Given the description of an element on the screen output the (x, y) to click on. 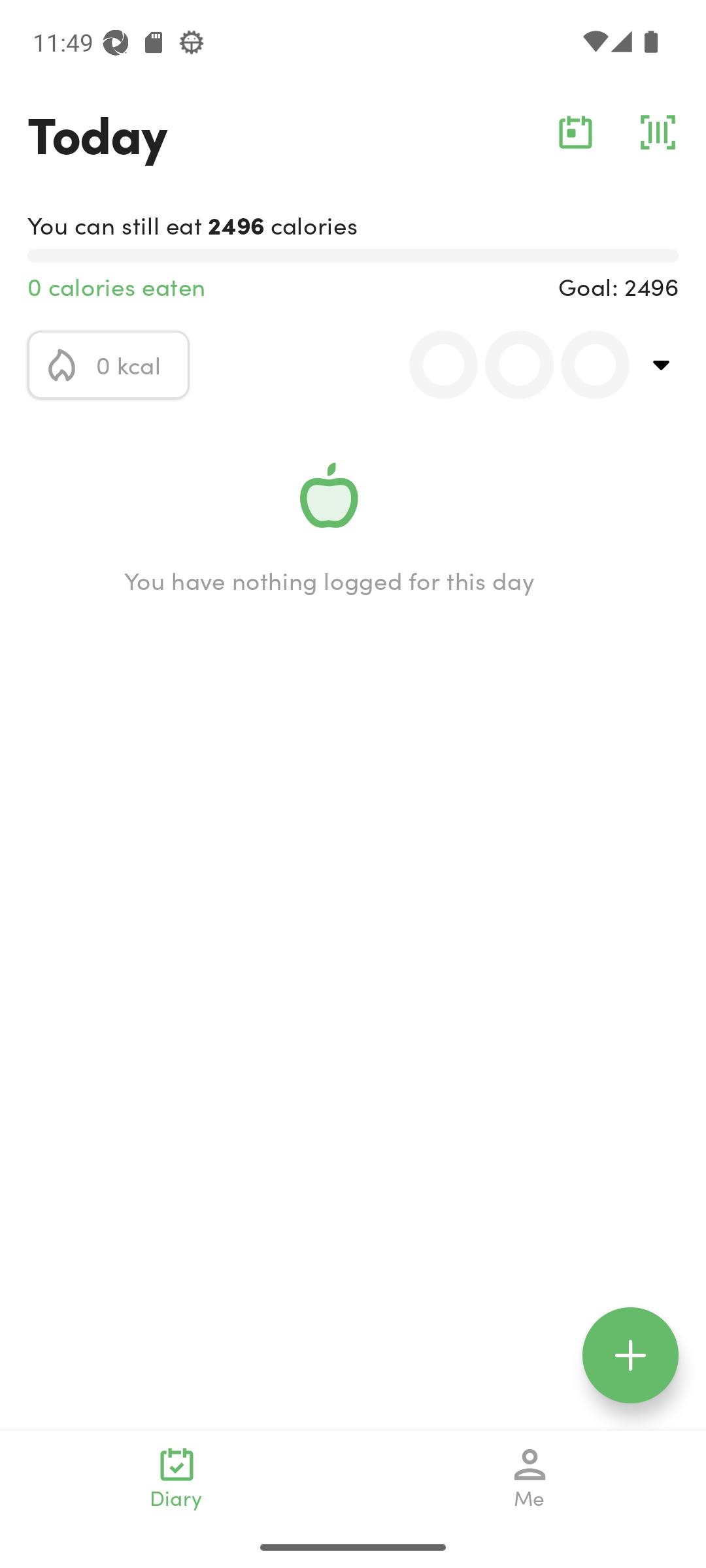
calendar_action (575, 132)
barcode_action (658, 132)
calorie_icon 0 kcal (108, 365)
0.0 0.0 0.0 (508, 365)
top_right_action (661, 365)
floating_action_icon (630, 1355)
Me navigation_icon (529, 1478)
